Given the description of an element on the screen output the (x, y) to click on. 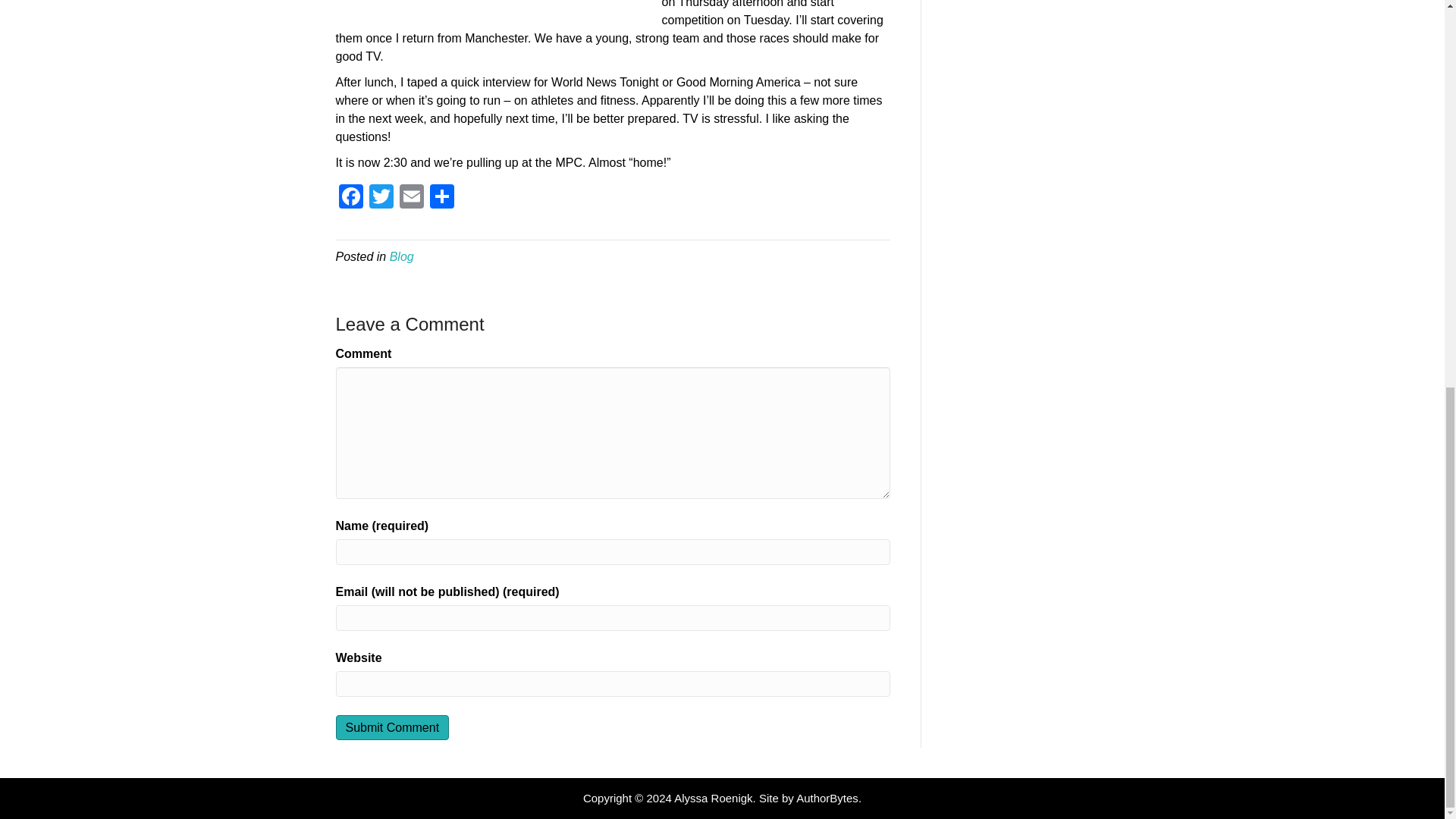
Email (411, 198)
Twitter (380, 198)
Email (411, 198)
Submit Comment (391, 727)
Facebook (349, 198)
Submit Comment (391, 727)
Blog (401, 256)
Facebook (349, 198)
AuthorBytes (827, 797)
Twitter (380, 198)
